Given the description of an element on the screen output the (x, y) to click on. 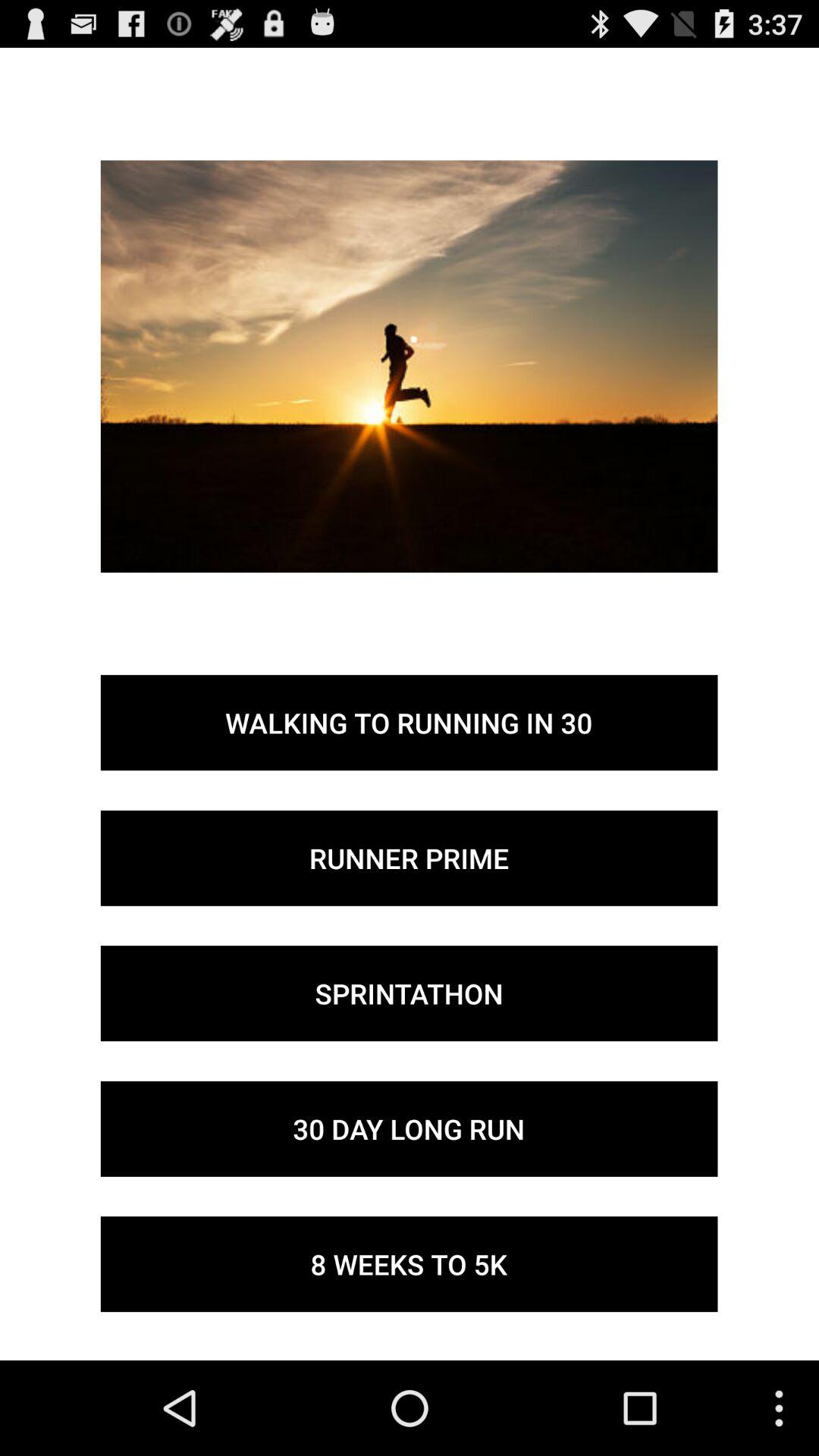
flip until walking to running button (408, 722)
